Given the description of an element on the screen output the (x, y) to click on. 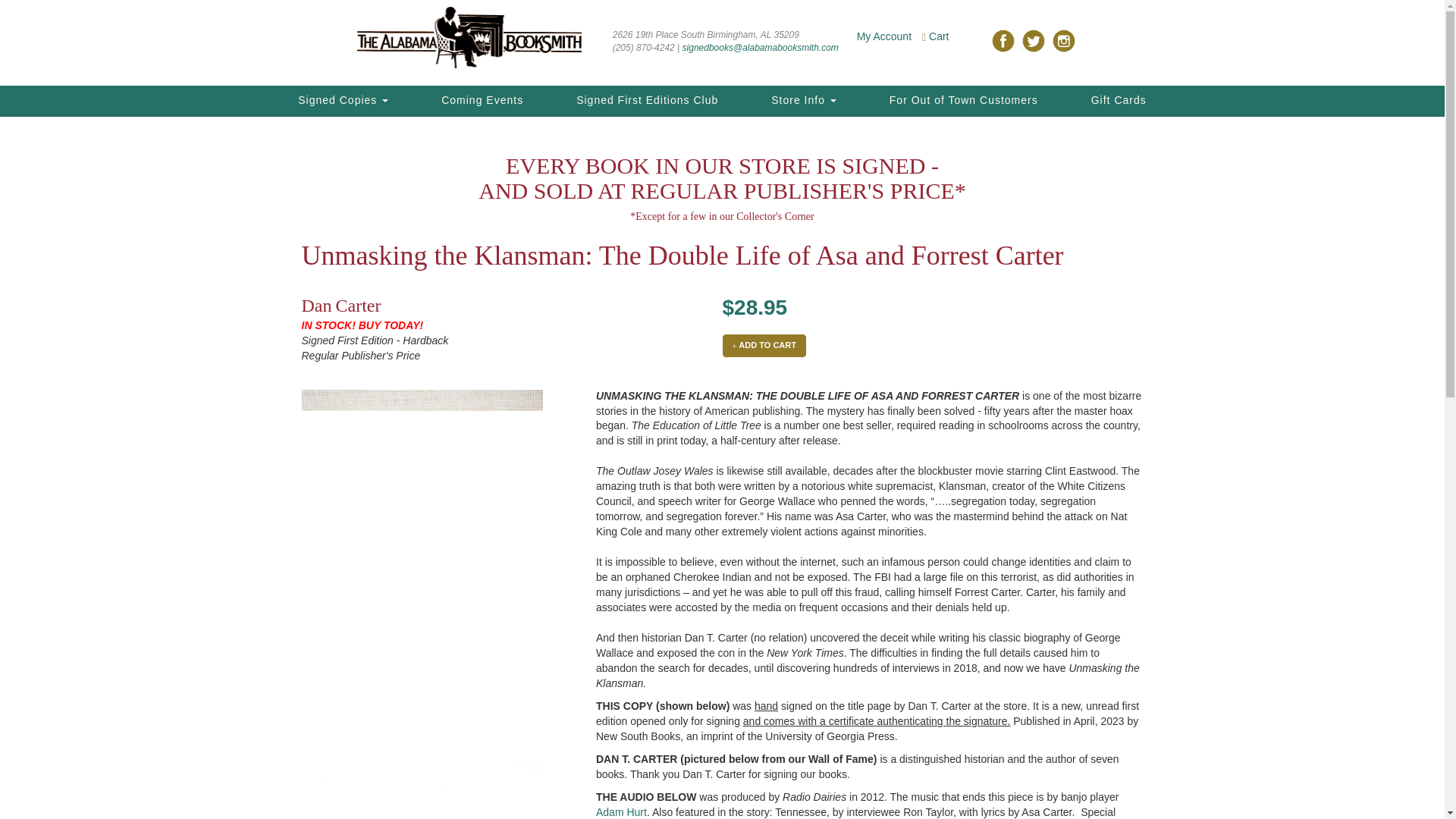
Coming Events (482, 100)
Adam Hurt (620, 811)
Cart (938, 36)
For Out of Town Customers (963, 100)
ADD TO CART (763, 345)
Gift Cards (1118, 100)
Signed First Editions Club (647, 100)
Home (468, 36)
